Given the description of an element on the screen output the (x, y) to click on. 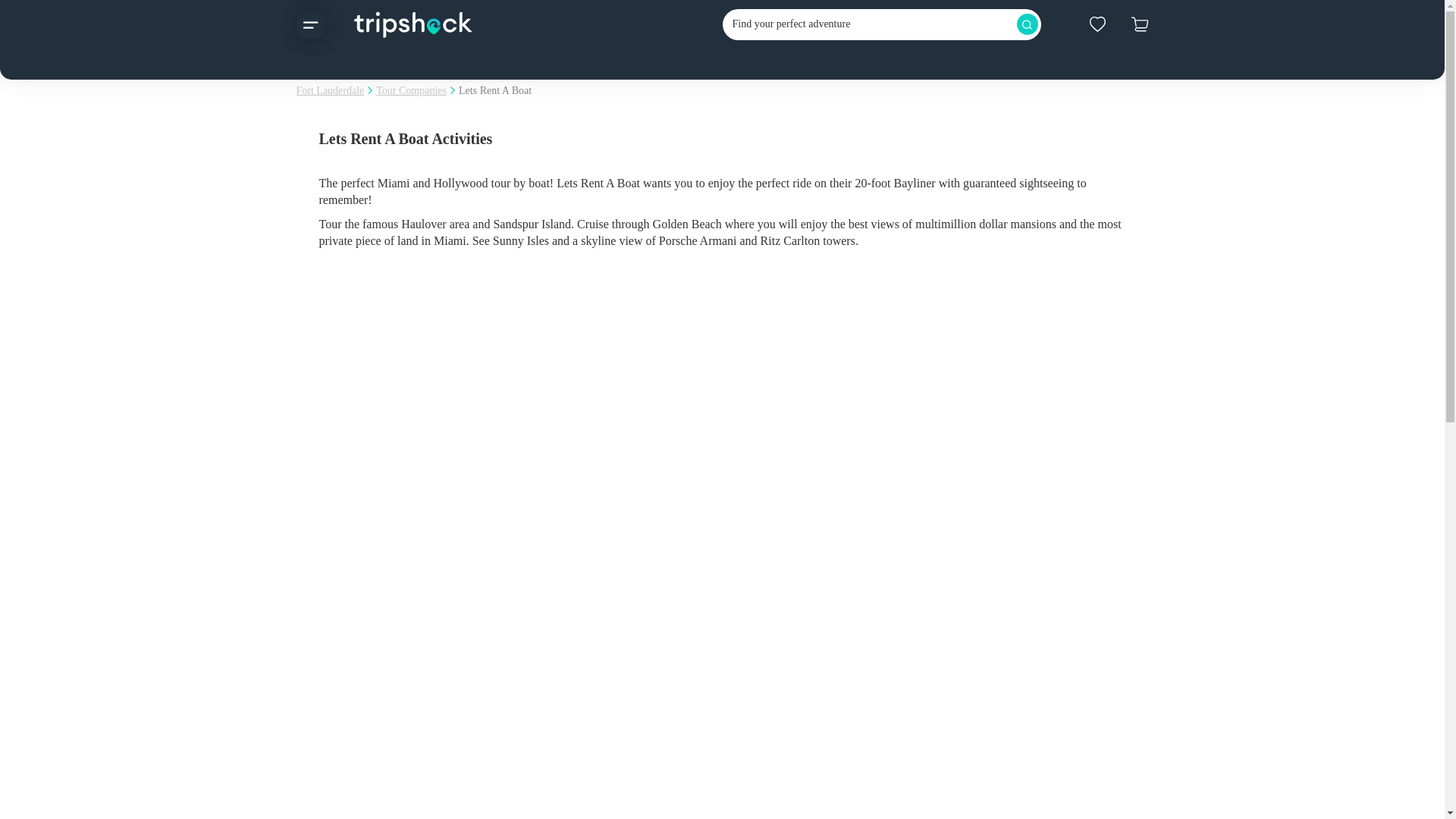
Fort Lauderdale (329, 90)
Tour Companies (410, 90)
